Given the description of an element on the screen output the (x, y) to click on. 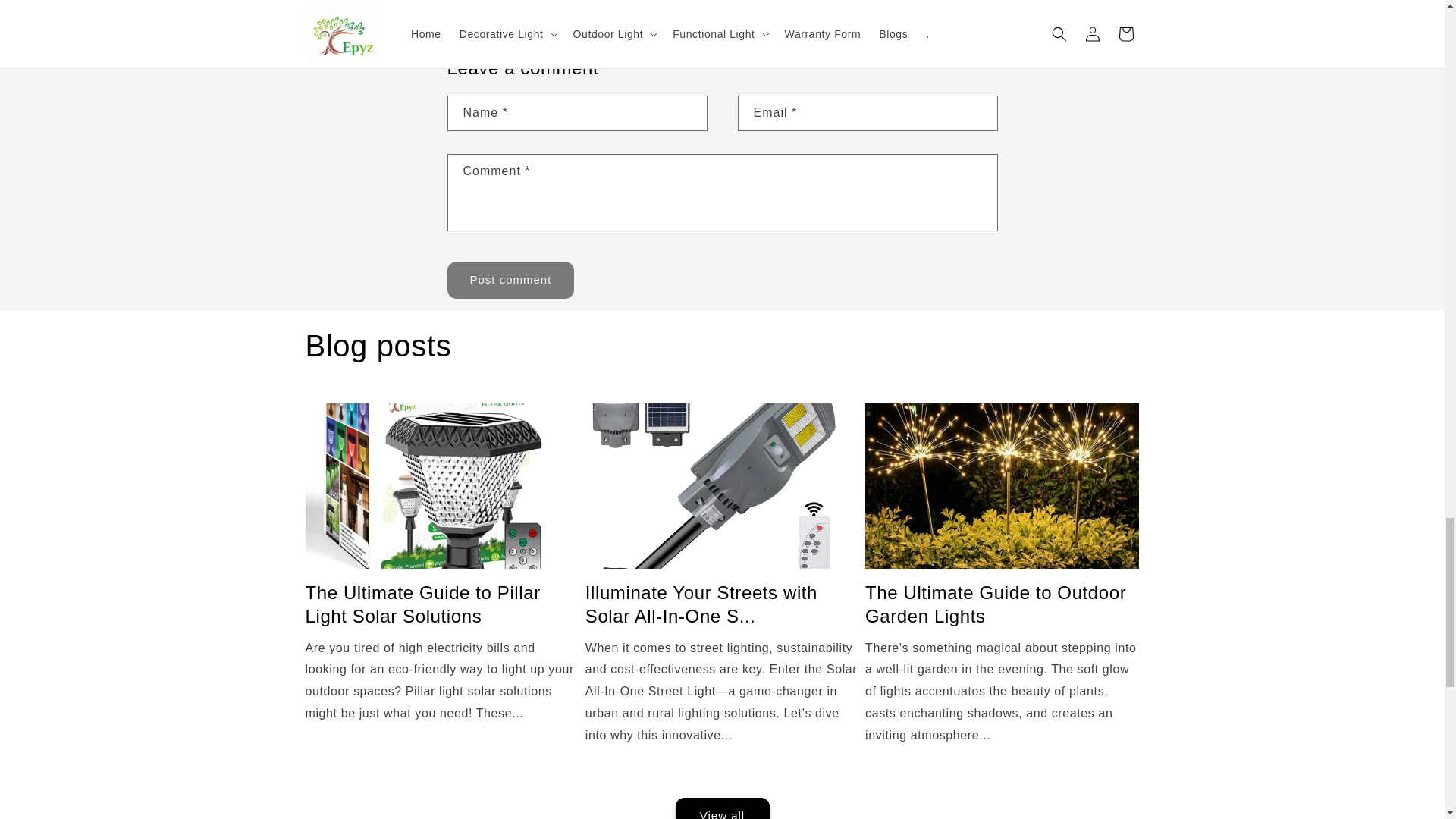
Post comment (510, 279)
View all (721, 789)
Blog posts (377, 345)
